Given the description of an element on the screen output the (x, y) to click on. 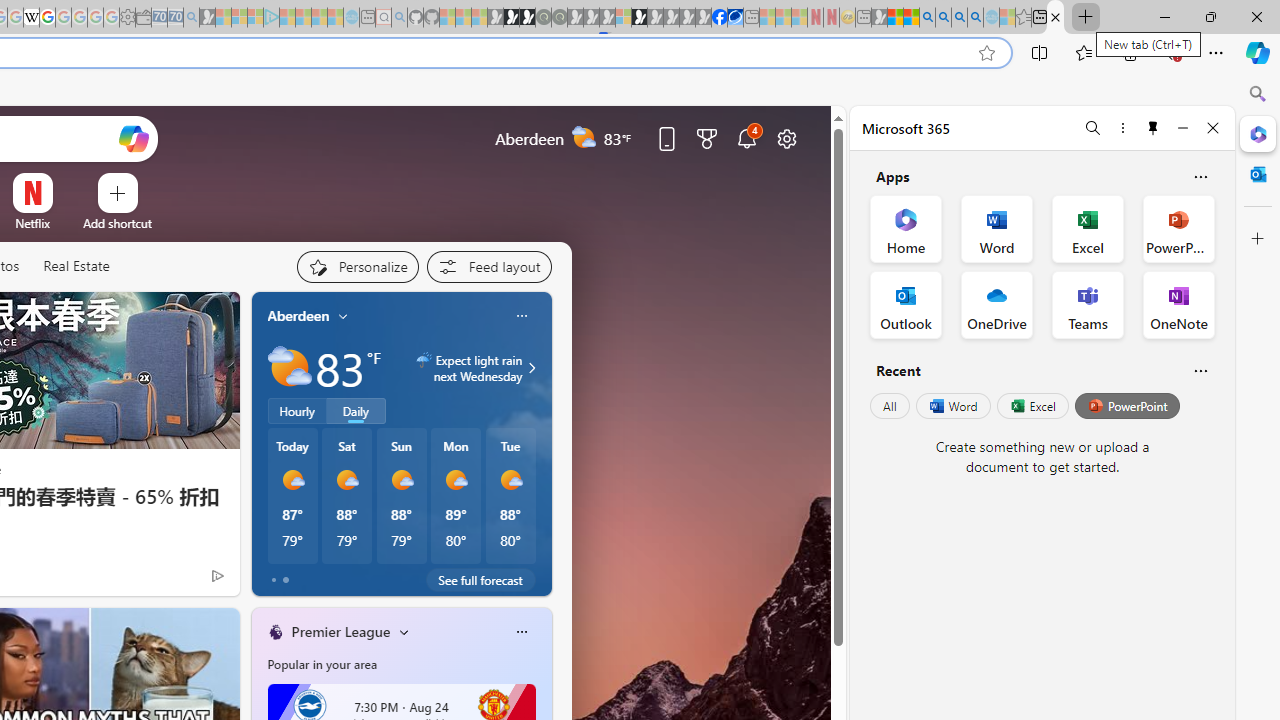
Microsoft account | Privacy - Sleeping (255, 17)
Page settings (786, 138)
Open Copilot (132, 138)
Cheap Car Rentals - Save70.com - Sleeping (175, 17)
AirNow.gov (735, 17)
Target page - Wikipedia (31, 17)
